Given the description of an element on the screen output the (x, y) to click on. 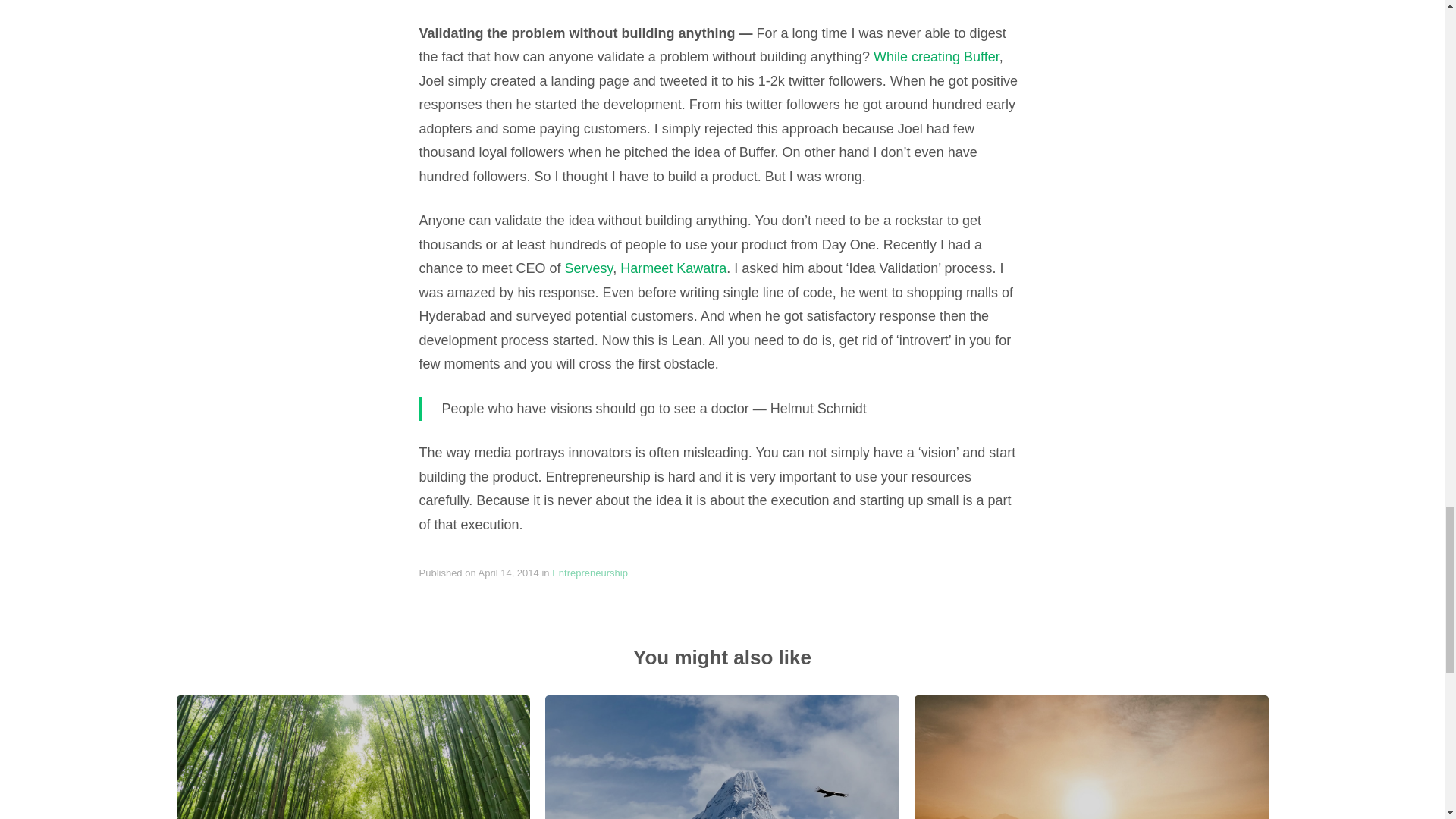
Invisible growth (352, 757)
While creating Buffer (935, 58)
Entrepreneurship (589, 573)
Harmeet Kawatra (673, 269)
Servesy (588, 269)
Hiring your best friend as a co-founder (1091, 757)
Invisible growth (352, 757)
Hiring your best friend as a co-founder (1091, 757)
